Given the description of an element on the screen output the (x, y) to click on. 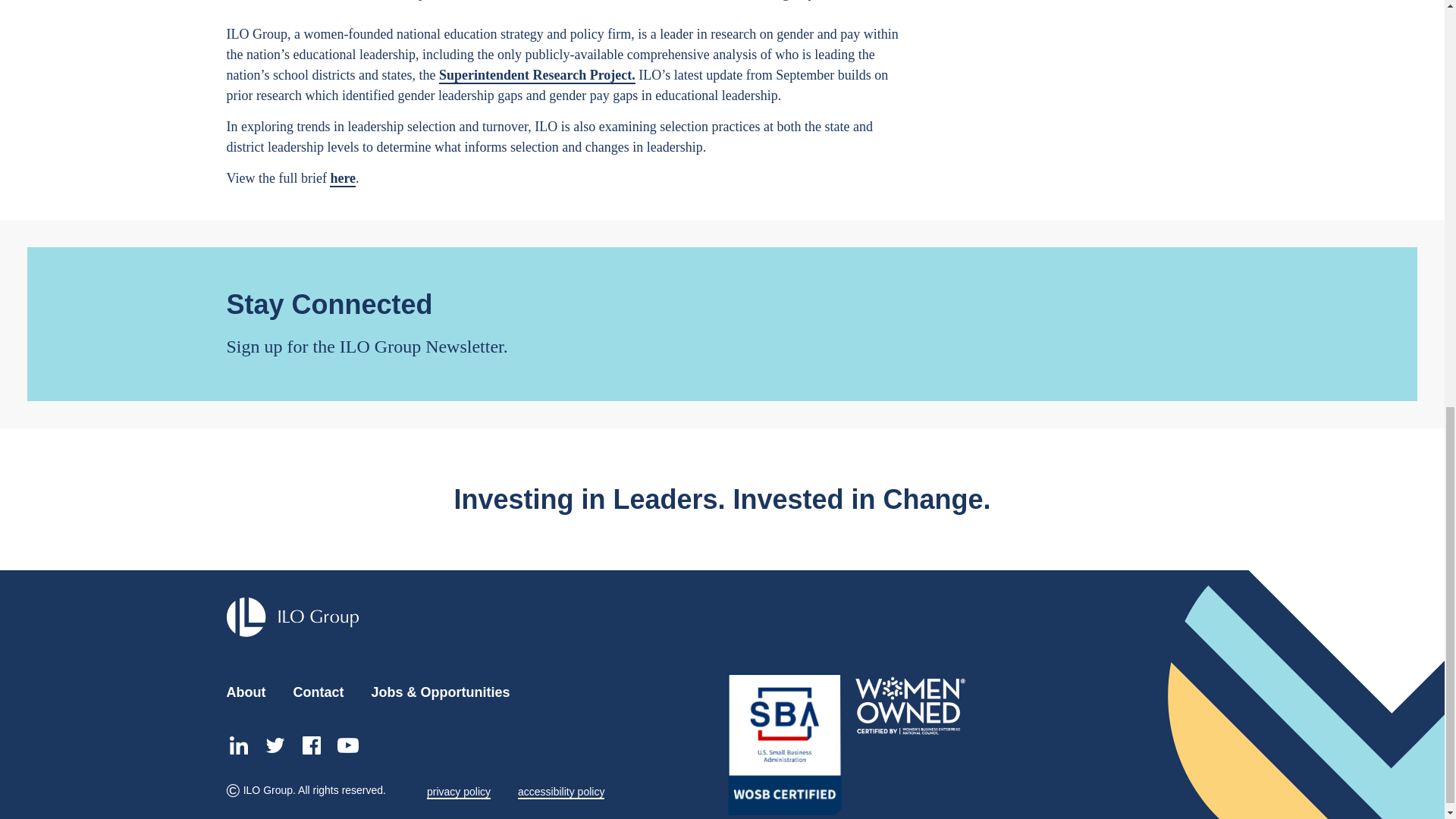
privacy policy (458, 792)
here (342, 178)
About (244, 692)
Contact (317, 692)
accessibility policy (561, 792)
Superintendent Research Project. (536, 75)
